Given the description of an element on the screen output the (x, y) to click on. 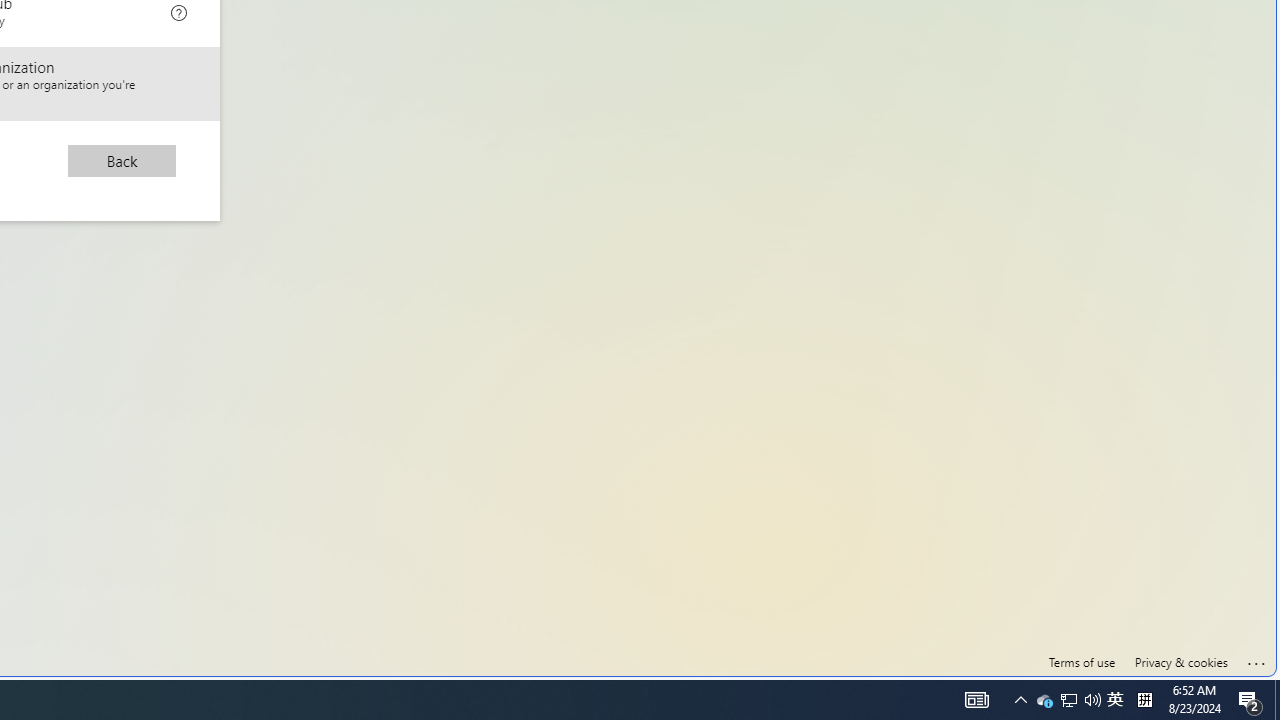
Click here for troubleshooting information (1257, 659)
Terms of use (1082, 662)
Privacy & cookies (1180, 662)
Learn more about signing in with GitHub (178, 10)
